Given the description of an element on the screen output the (x, y) to click on. 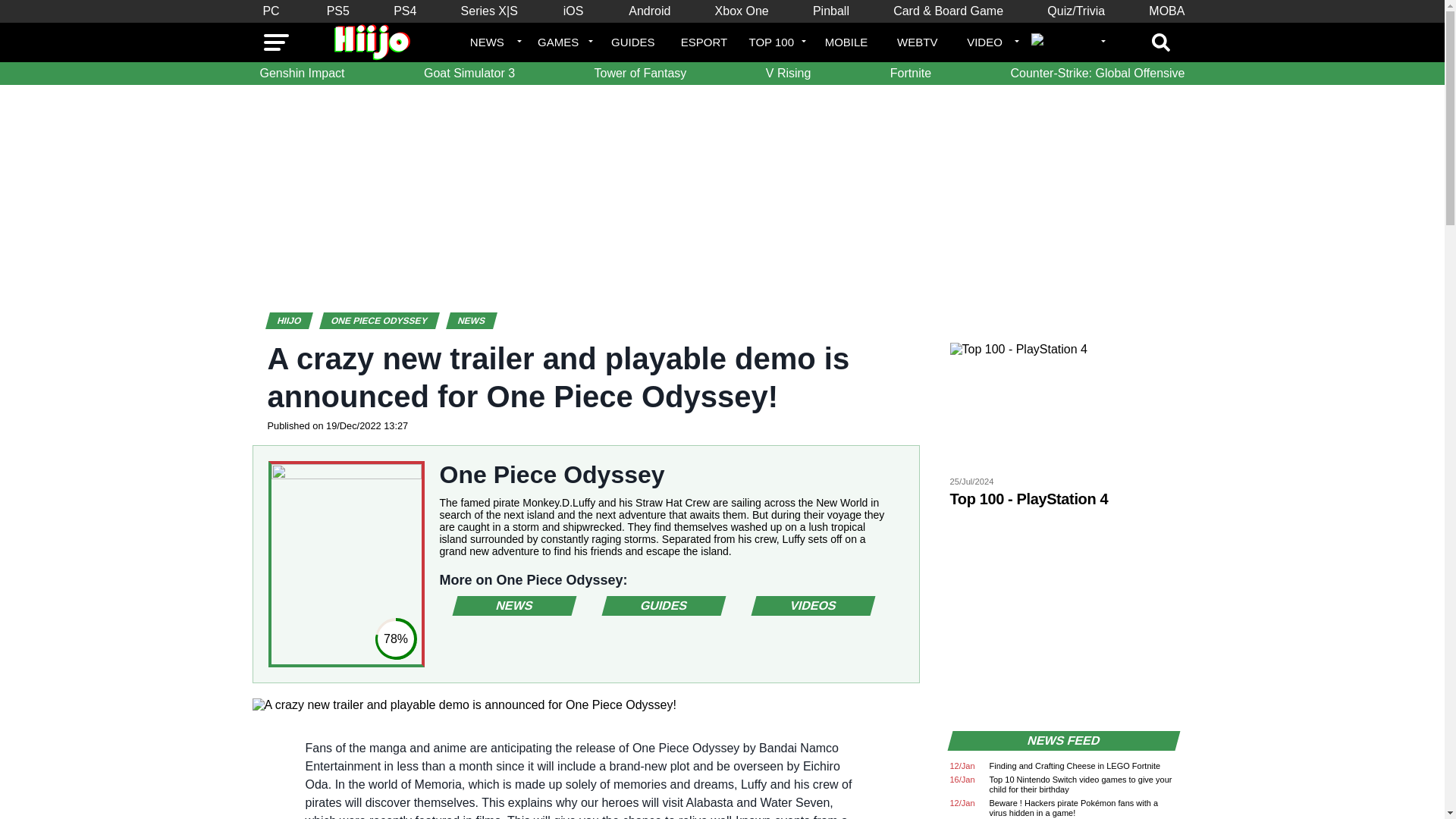
Pinball (831, 11)
PlayStation 5 (337, 11)
Genshin Impact (301, 73)
V Rising (788, 73)
Goat Simulator 3 (469, 73)
News on One Piece Odyssey: (511, 605)
Tower of Fantasy (640, 73)
iOS (573, 11)
Fortnite (910, 73)
PlayStation 4 (404, 11)
Android (649, 11)
Counter-Strike: Global Offensive (1097, 73)
Hiijo (296, 320)
Xbox One (741, 11)
MOBA (1166, 11)
